Given the description of an element on the screen output the (x, y) to click on. 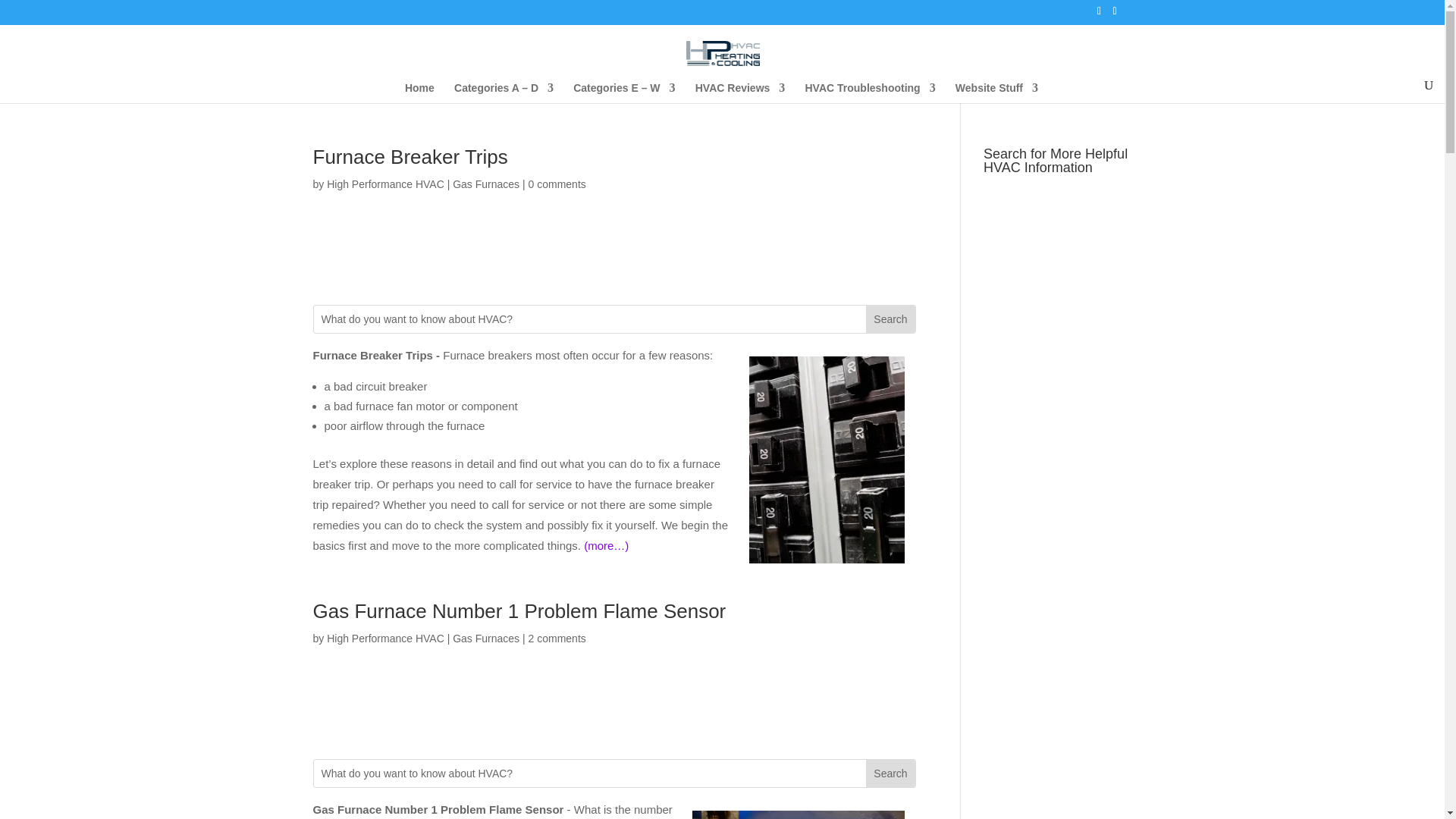
Search (890, 773)
Website Stuff (996, 91)
Posts by High Performance HVAC (385, 638)
HVAC Reviews (740, 91)
Search (890, 318)
Search (890, 318)
HVAC Troubleshooting (869, 91)
Posts by High Performance HVAC (385, 183)
Search (890, 773)
Home (418, 91)
